Given the description of an element on the screen output the (x, y) to click on. 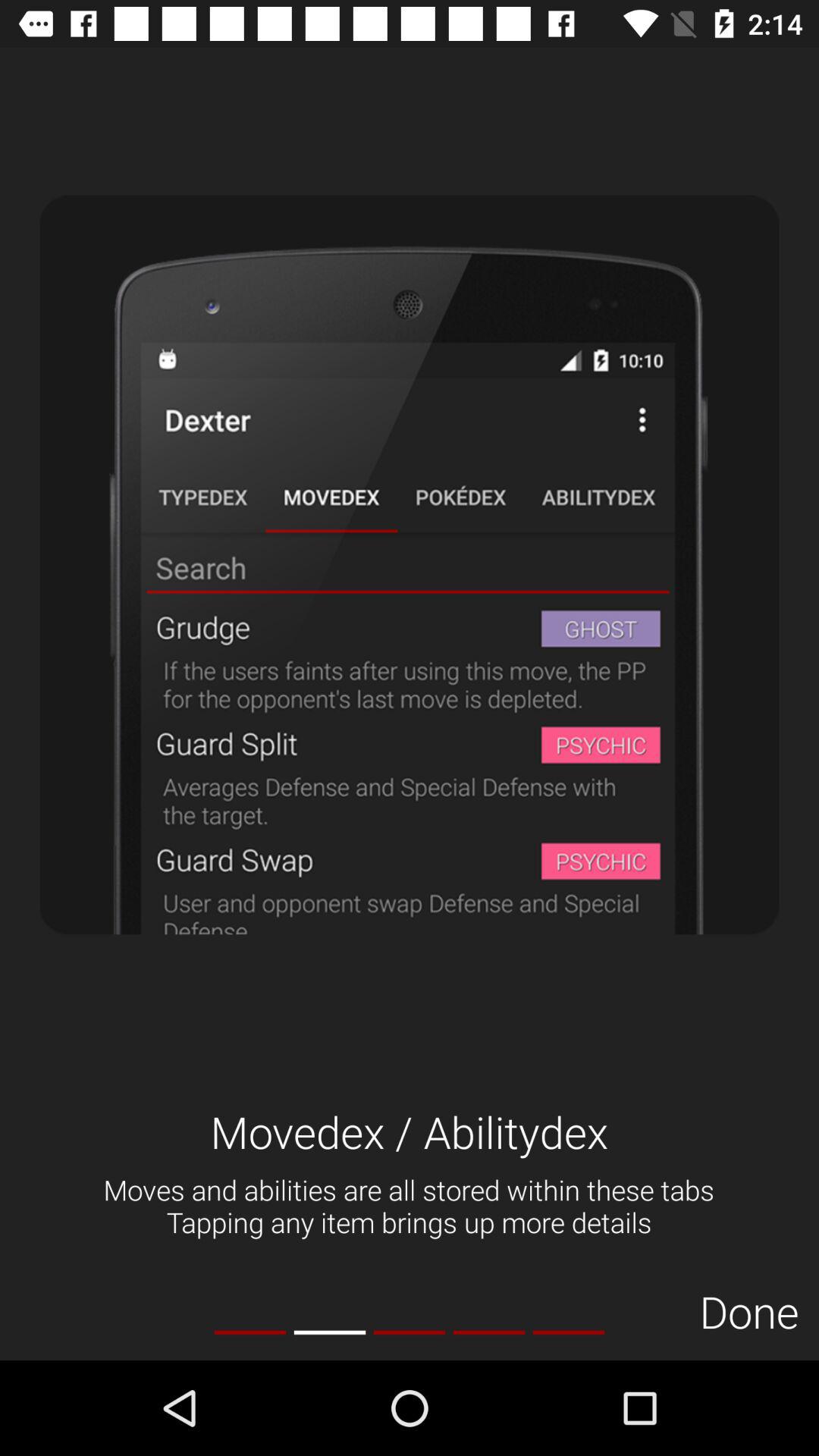
click item below moves and abilities item (250, 1332)
